Given the description of an element on the screen output the (x, y) to click on. 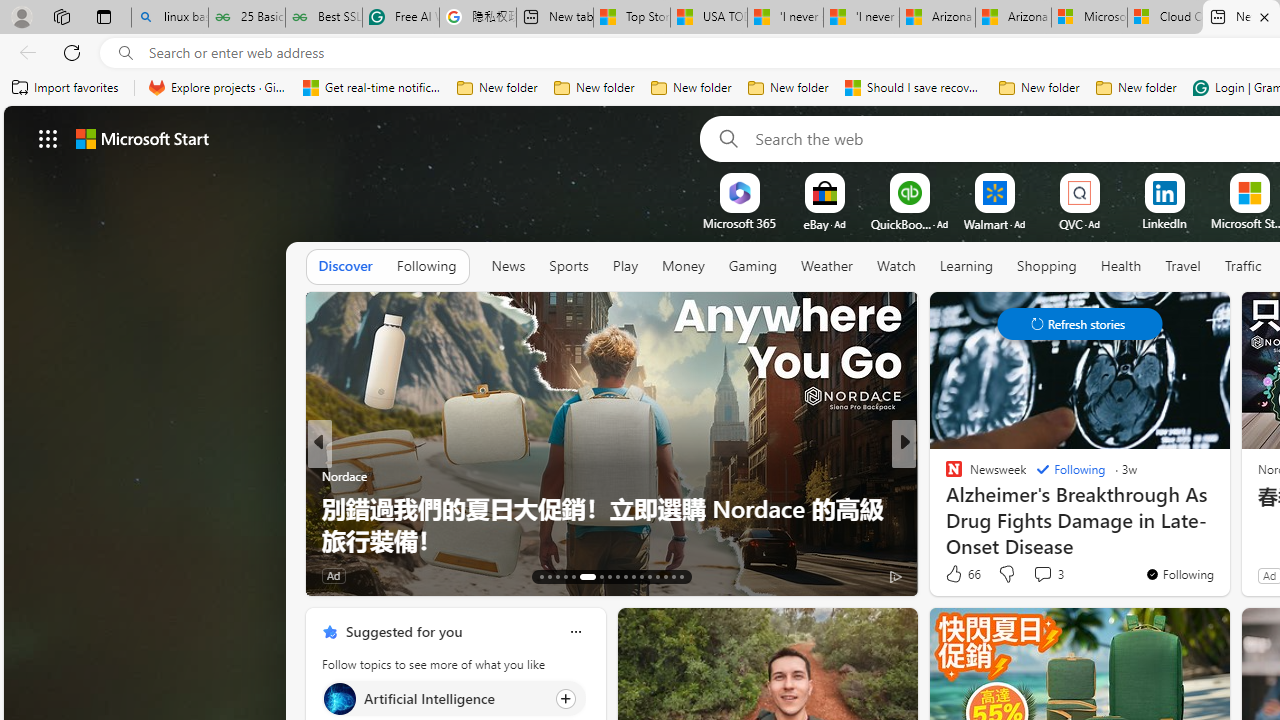
Play (625, 267)
Artificial Intelligence (338, 697)
AutomationID: tab-25 (649, 576)
AutomationID: tab-13 (541, 576)
The Weather Channel (944, 475)
Suggested for you (404, 631)
68 Like (956, 574)
25 Basic Linux Commands For Beginners - GeeksforGeeks (246, 17)
You're following Newsweek (1179, 573)
Cloud Computing Services | Microsoft Azure (1165, 17)
Best SSL Certificates Provider in India - GeeksforGeeks (323, 17)
